Given the description of an element on the screen output the (x, y) to click on. 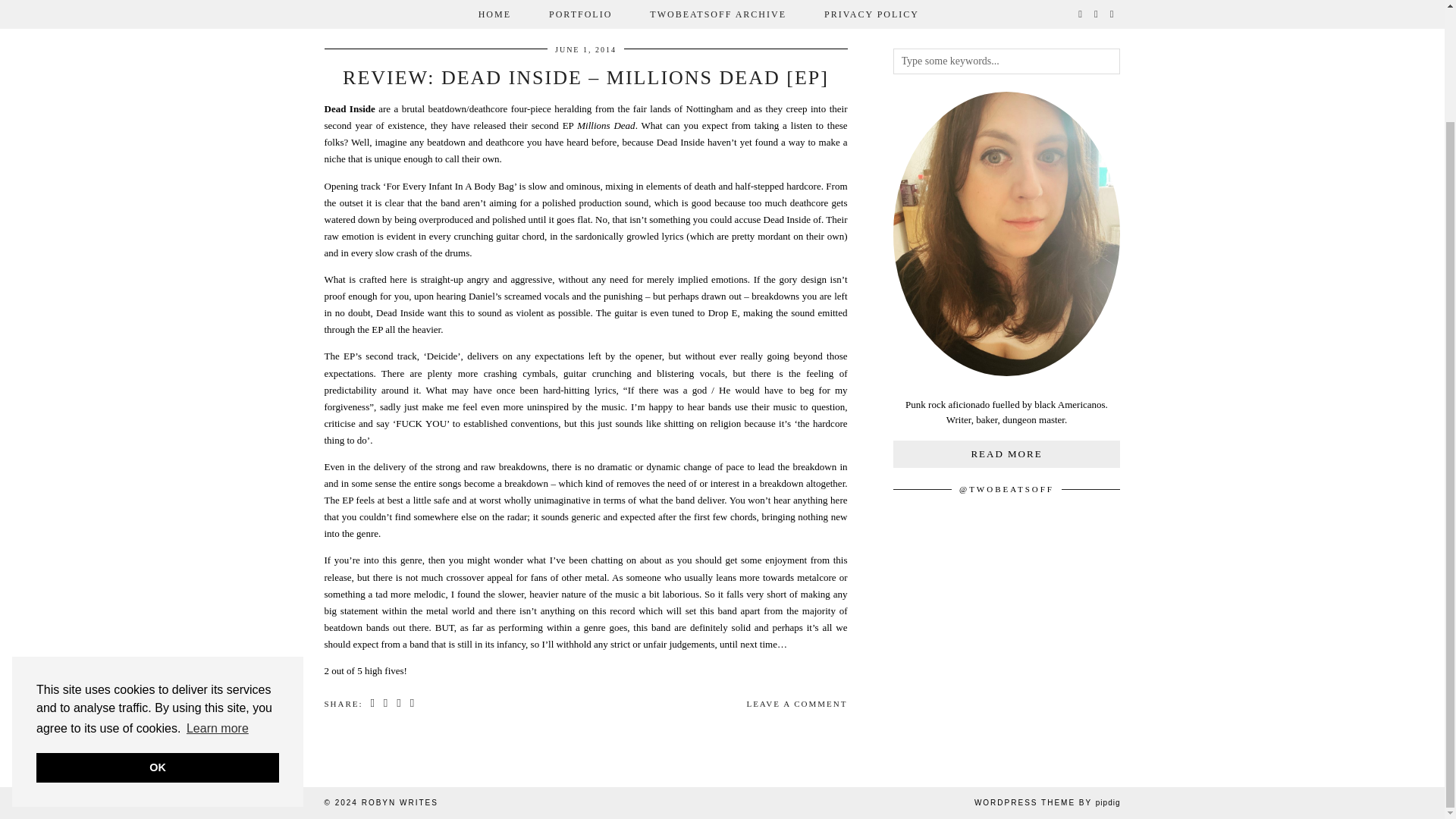
LEAVE A COMMENT (796, 703)
ROBYN WRITES (399, 802)
Share on Facebook (372, 703)
OK (157, 634)
Learn more (217, 596)
Share on tumblr (412, 703)
Share on Pinterest (399, 703)
READ MORE (1007, 453)
WORDPRESS THEME BY pipdig (1047, 802)
Share on Twitter (386, 703)
